Given the description of an element on the screen output the (x, y) to click on. 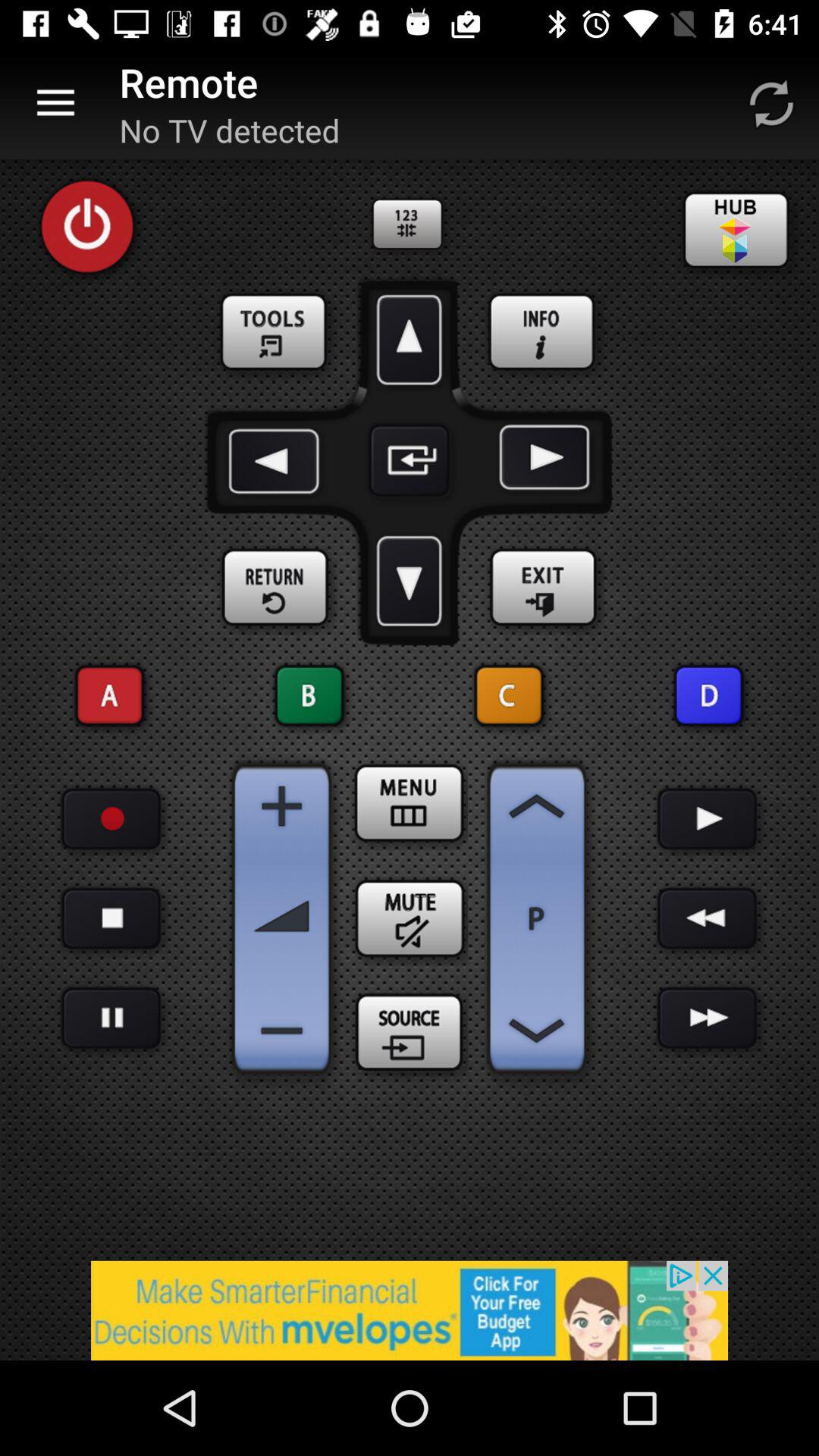
turn volume down (281, 1031)
